Given the description of an element on the screen output the (x, y) to click on. 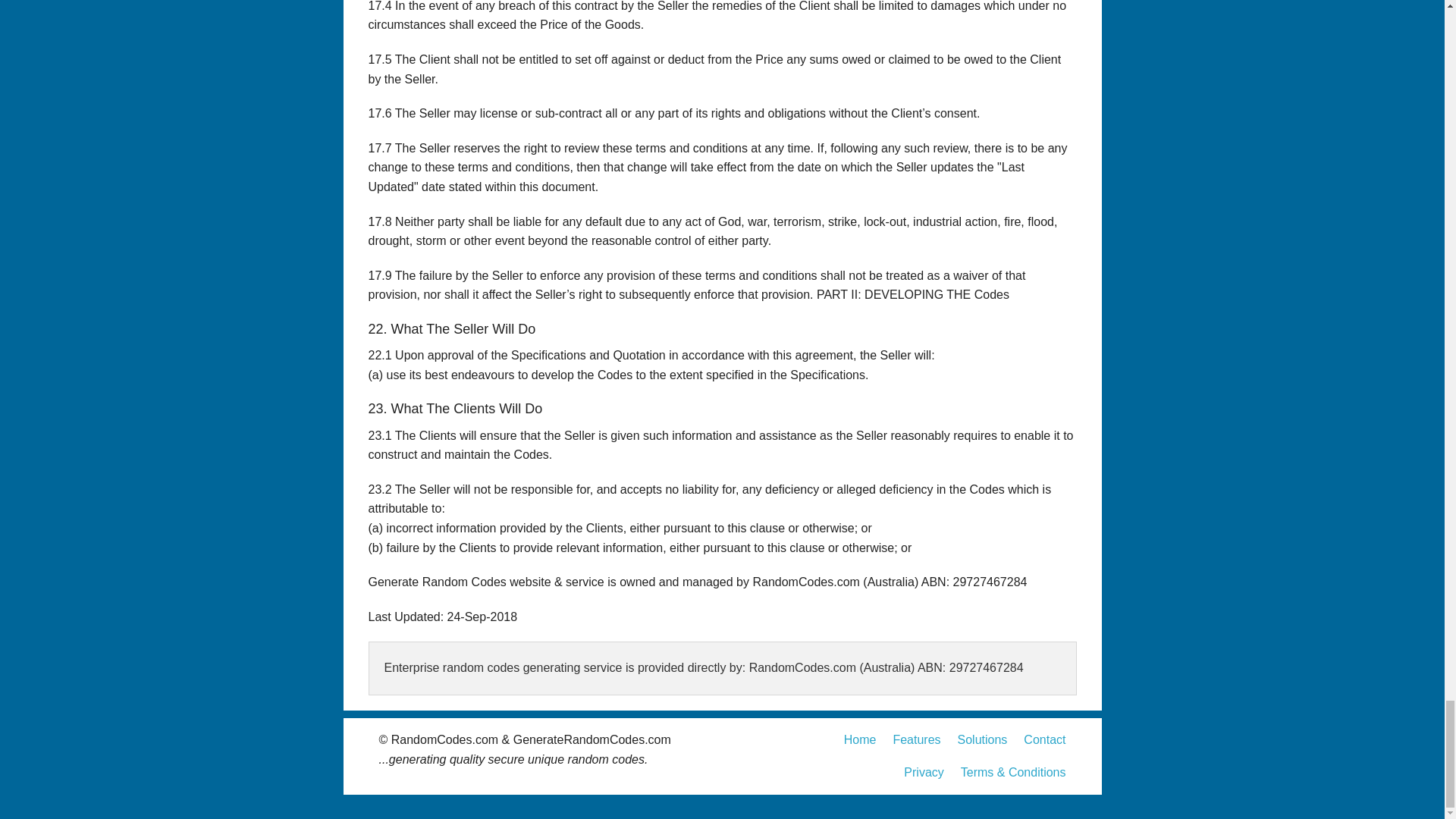
Solutions (982, 740)
Privacy (923, 772)
Features (916, 740)
Contact (1044, 740)
Home (860, 740)
